Given the description of an element on the screen output the (x, y) to click on. 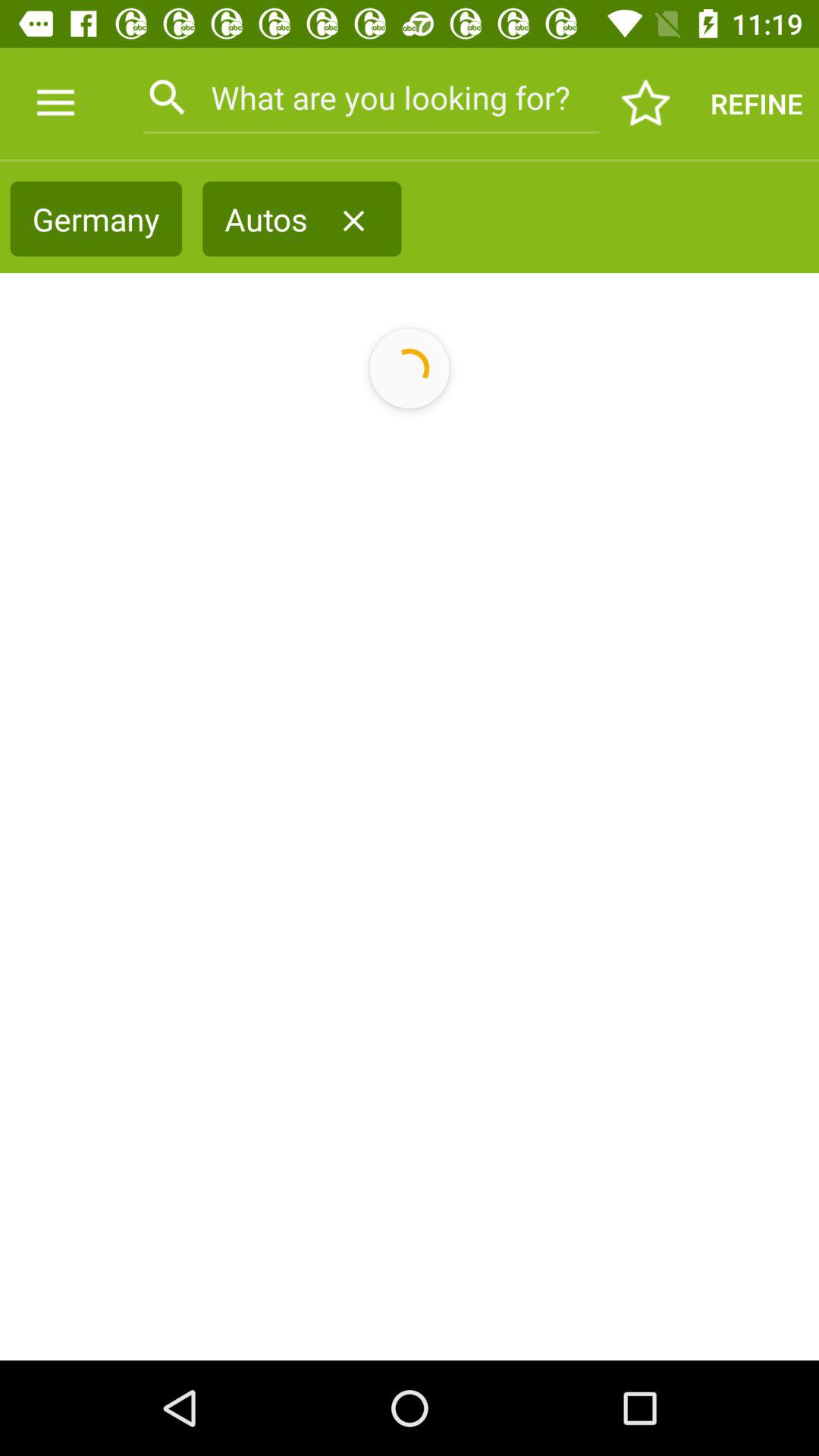
turn off icon next to the what are you icon (55, 103)
